Given the description of an element on the screen output the (x, y) to click on. 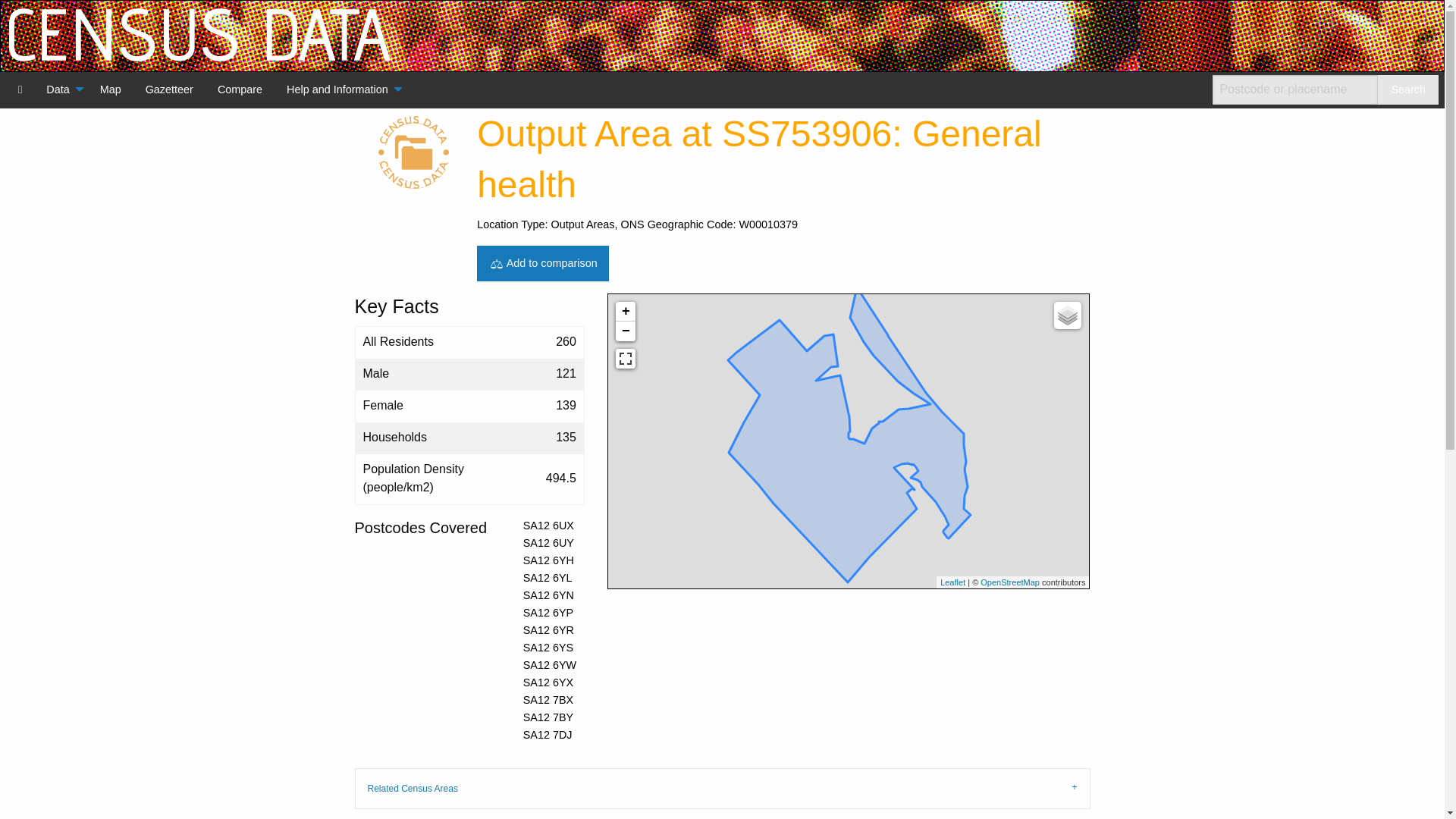
Zoom out (624, 331)
View Fullscreen (624, 358)
Related Census Areas (722, 787)
Leaflet (952, 582)
Search (1407, 89)
Map (110, 90)
Data (60, 90)
OpenStreetMap (1009, 582)
A JS library for interactive maps (952, 582)
Gazetteer (169, 90)
Layers (1067, 315)
Help and Information (340, 90)
Census Data (19, 90)
Search (1407, 89)
Zoom in (624, 311)
